Given the description of an element on the screen output the (x, y) to click on. 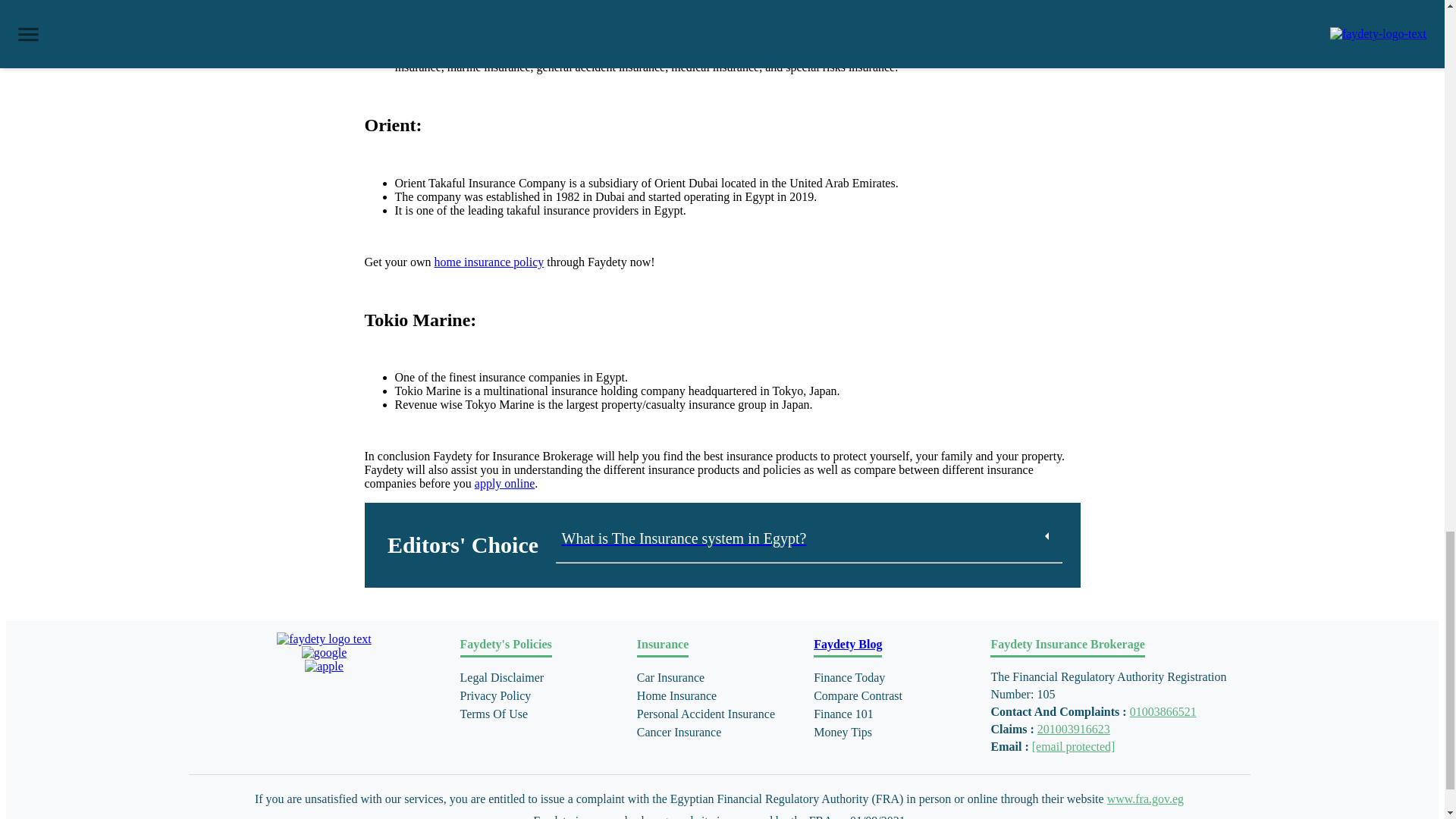
apply online (504, 482)
Cancer Insurance (722, 732)
Money Tips (898, 732)
Car Insurance (722, 678)
Home Insurance (722, 696)
Legal Disclaimer (545, 678)
Terms Of Use (545, 714)
Compare Contrast (898, 696)
What is The Insurance system in Egypt? (683, 538)
www.fra.gov.eg (1144, 798)
Privacy Policy (545, 696)
Personal Accident Insurance (722, 714)
01003866521 (1162, 711)
home insurance policy (488, 261)
201003916623 (1072, 728)
